Given the description of an element on the screen output the (x, y) to click on. 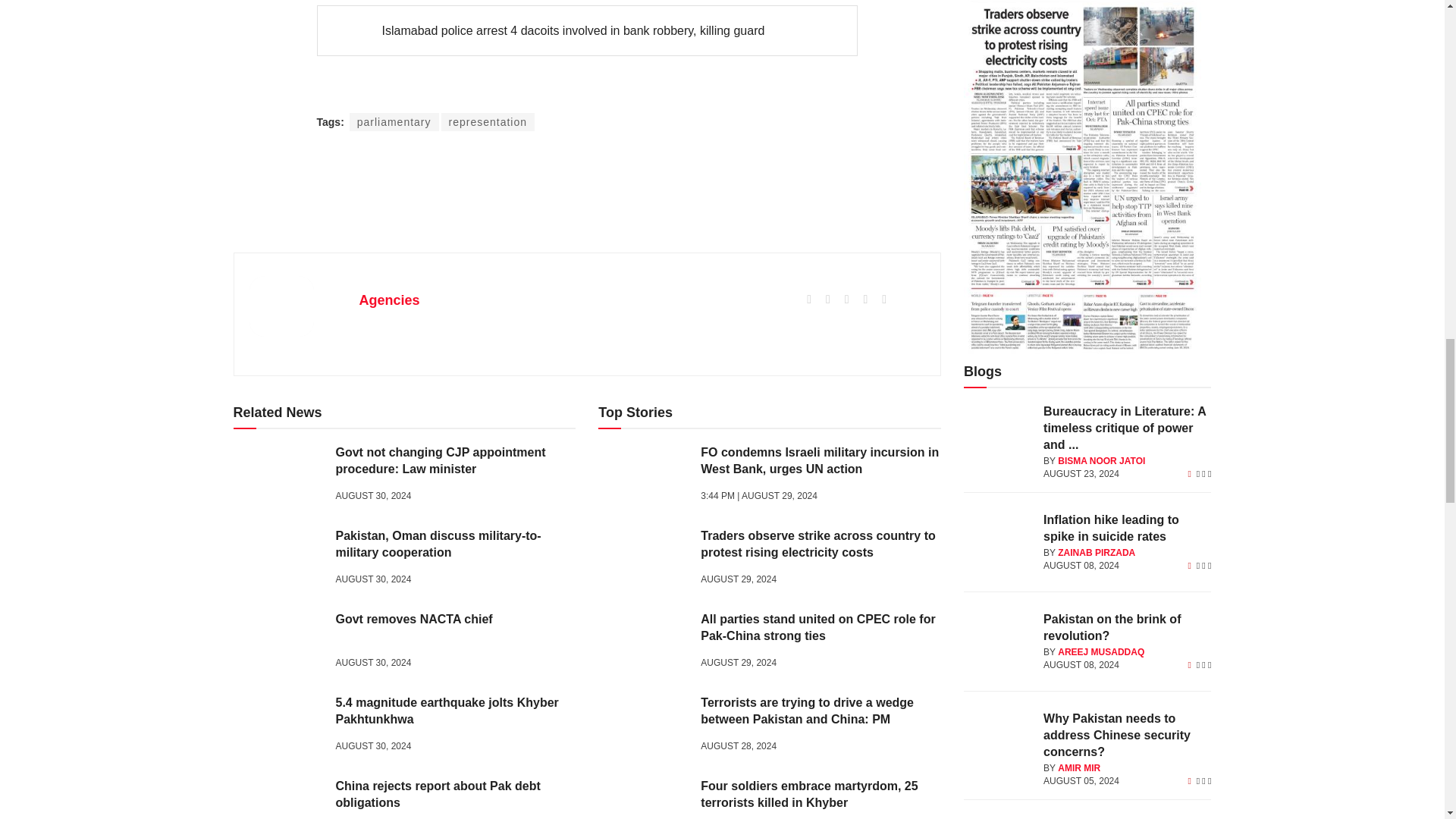
Govt not changing CJP appointment procedure: Law minister (278, 476)
5.4 magnitude earthquake jolts Khyber Pakhtunkhwa (278, 726)
Pakistan, Oman discuss military-to-military cooperation (278, 559)
Govt removes NACTA chief (278, 642)
China rejects report about Pak debt obligations (278, 798)
